Given the description of an element on the screen output the (x, y) to click on. 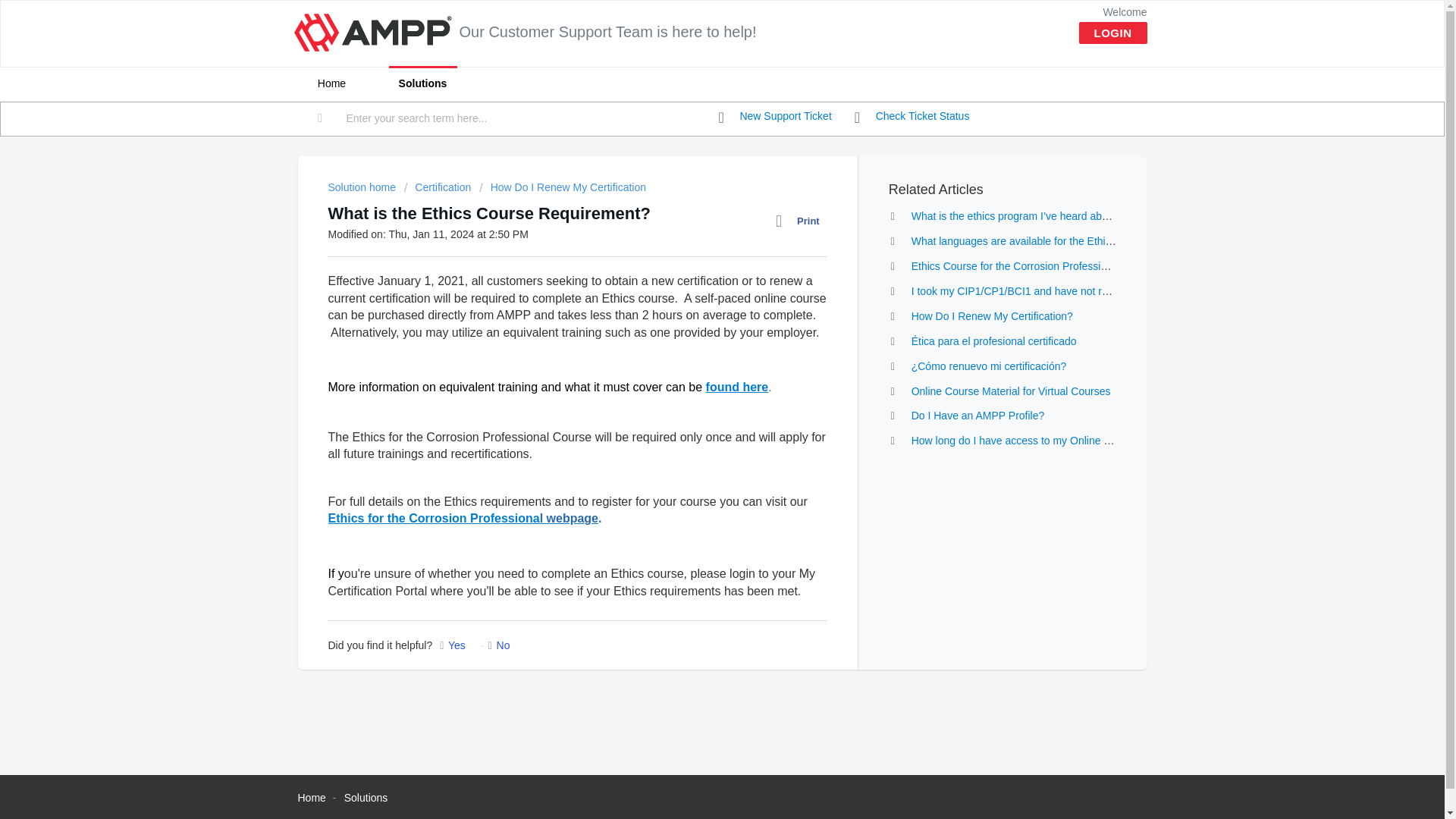
How Do I Renew My Certification? (992, 316)
Online Course Material for Virtual Courses (1010, 390)
Print this Article (801, 220)
Home (310, 797)
How long do I have access to my Online Course Material? (1048, 440)
How Do I Renew My Certification (562, 186)
New Support Ticket (775, 116)
Ethics for the Corrosion Professional webpage (462, 517)
Solution home (362, 186)
New support ticket (775, 116)
What languages are available for the Ethic Course? (1032, 241)
Home (331, 83)
Check Ticket Status (911, 116)
Print (801, 220)
found here (737, 386)
